Given the description of an element on the screen output the (x, y) to click on. 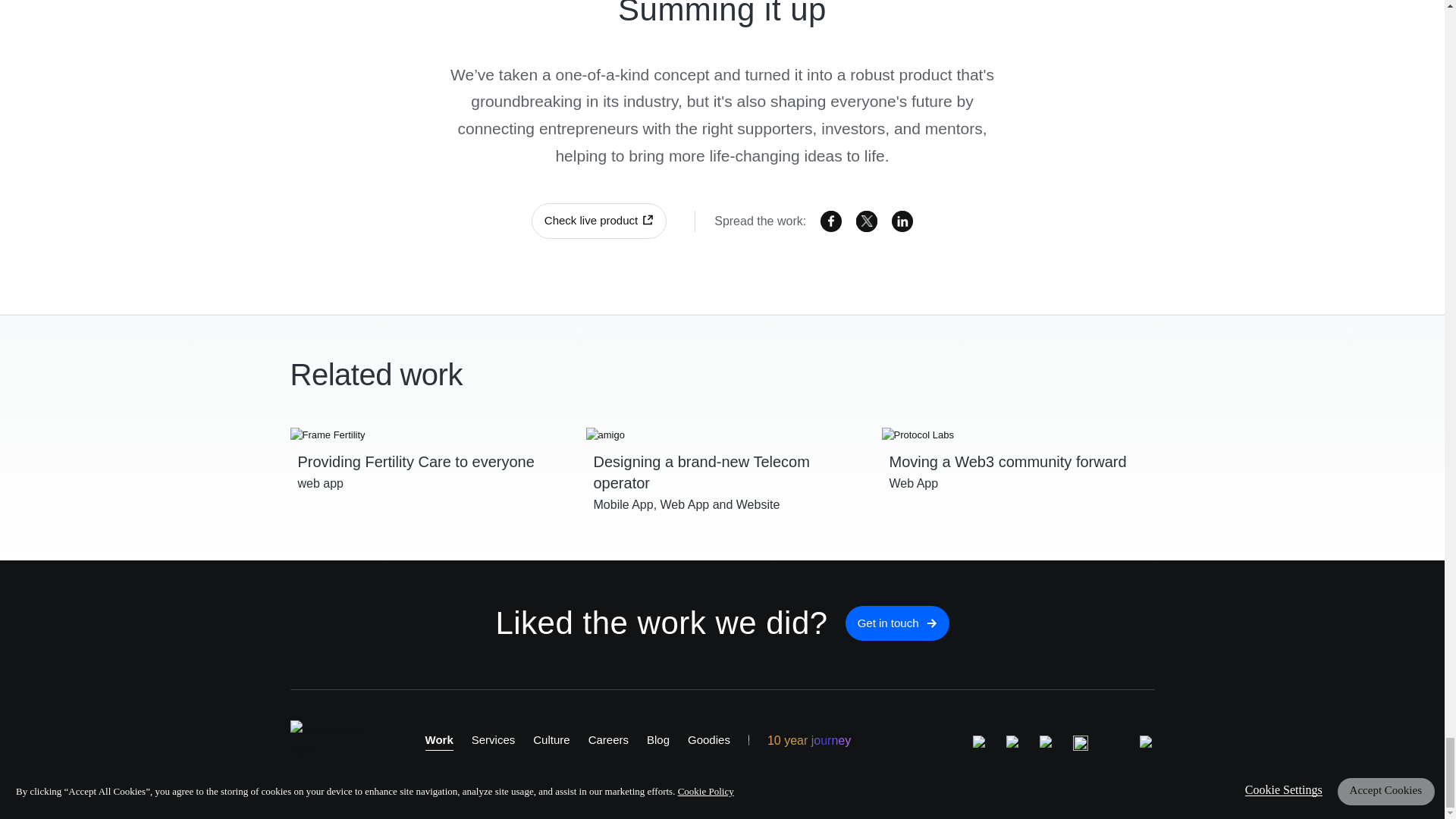
Work (438, 740)
Blog (657, 740)
Providing Fertility Care to everyone (425, 450)
Careers (608, 740)
Designing a brand-new Telecom operator (722, 461)
10 year journey (808, 740)
Goodies (708, 740)
Moving a Web3 community forward (1017, 450)
Get in touch (897, 623)
Services (493, 740)
Culture (550, 740)
